Given the description of an element on the screen output the (x, y) to click on. 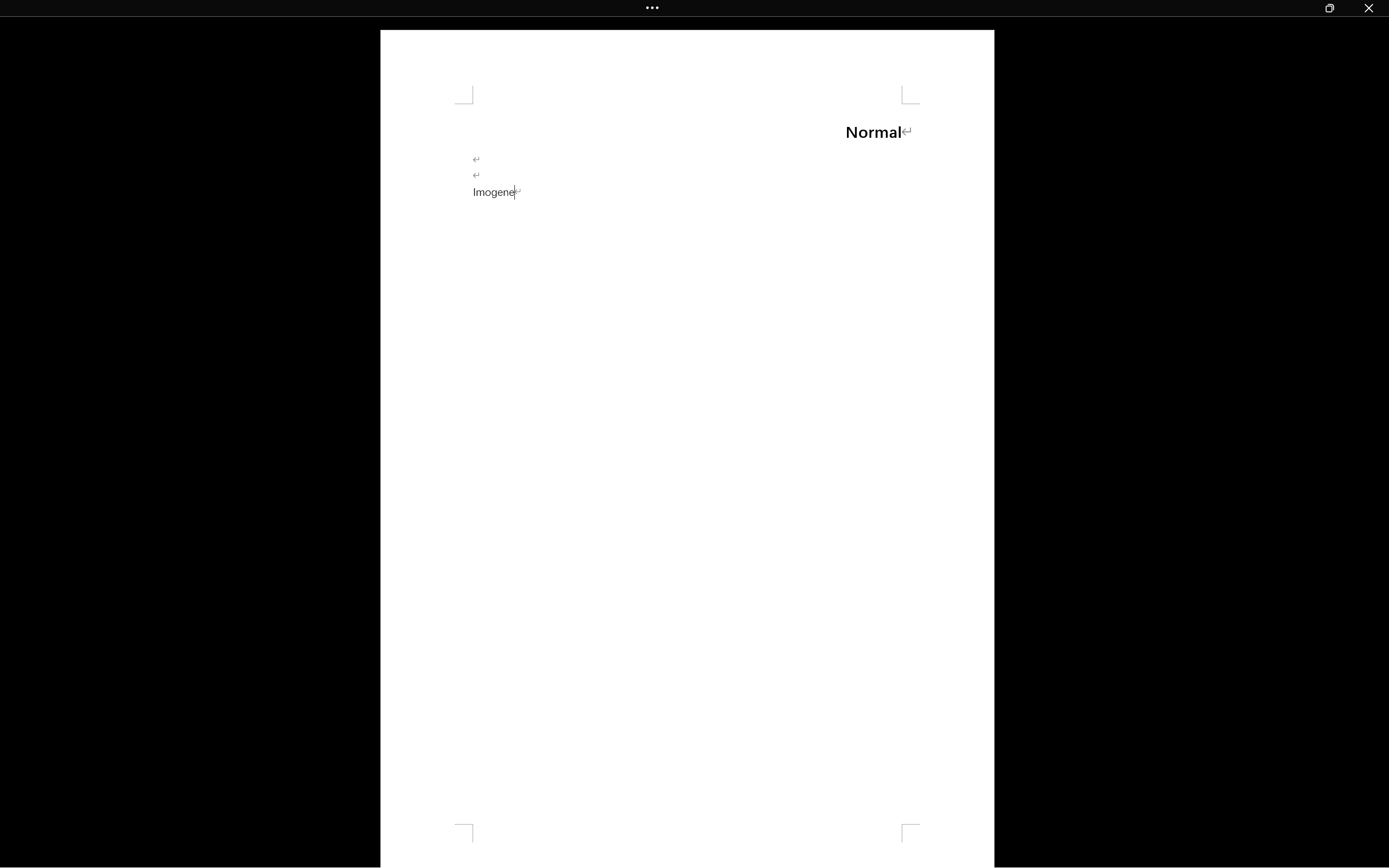
From Beginning... (85, 62)
Save as Show (292, 62)
Clear Recording (224, 62)
Class: MsoCommandBar (694, 836)
